Given the description of an element on the screen output the (x, y) to click on. 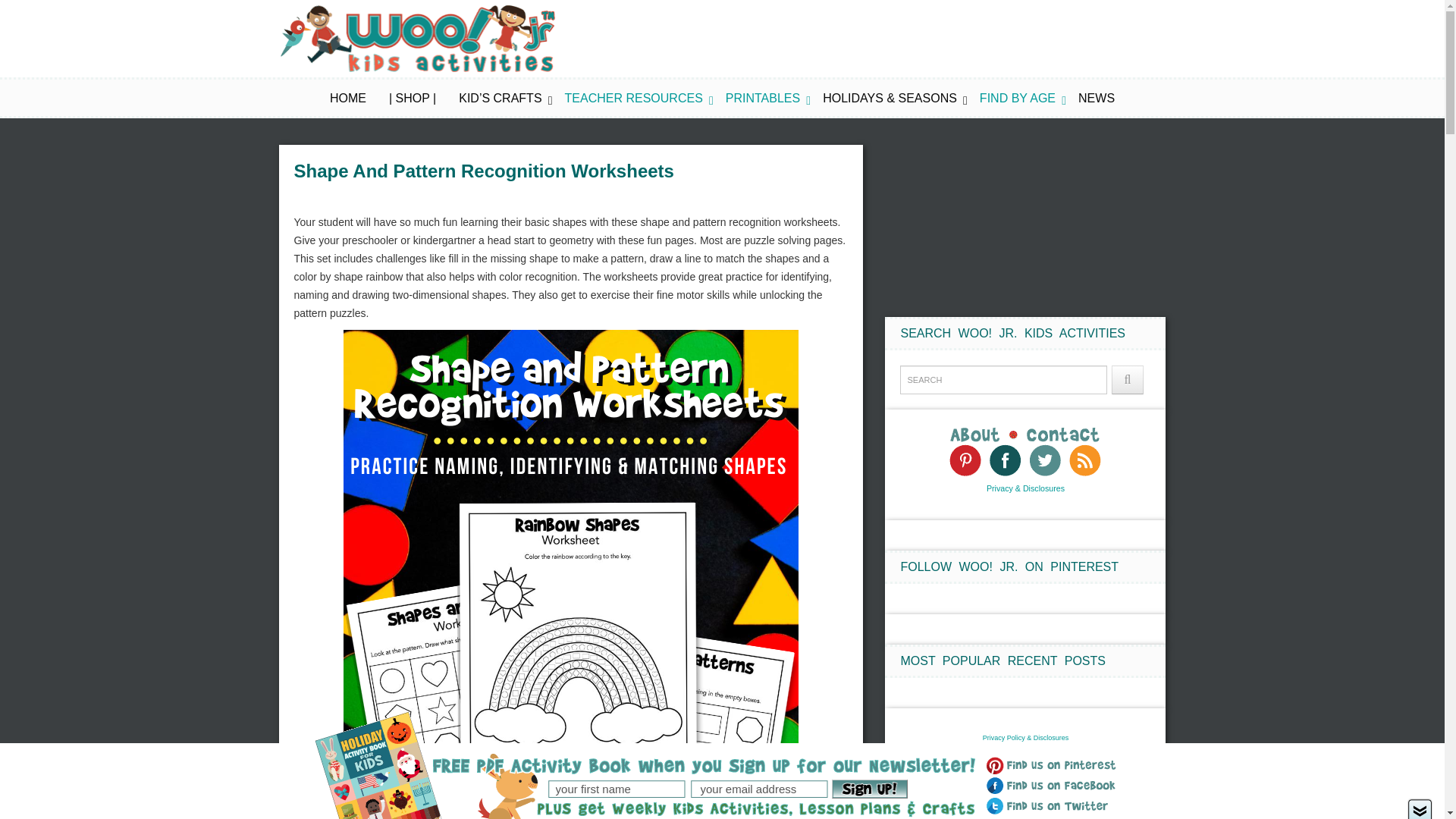
TEACHER RESOURCES (633, 98)
PRINTABLES (762, 98)
HOME (348, 98)
Shop the Woo! Jr. Kids E-Book Store! (411, 98)
your email address (761, 788)
your first name (616, 788)
